Given the description of an element on the screen output the (x, y) to click on. 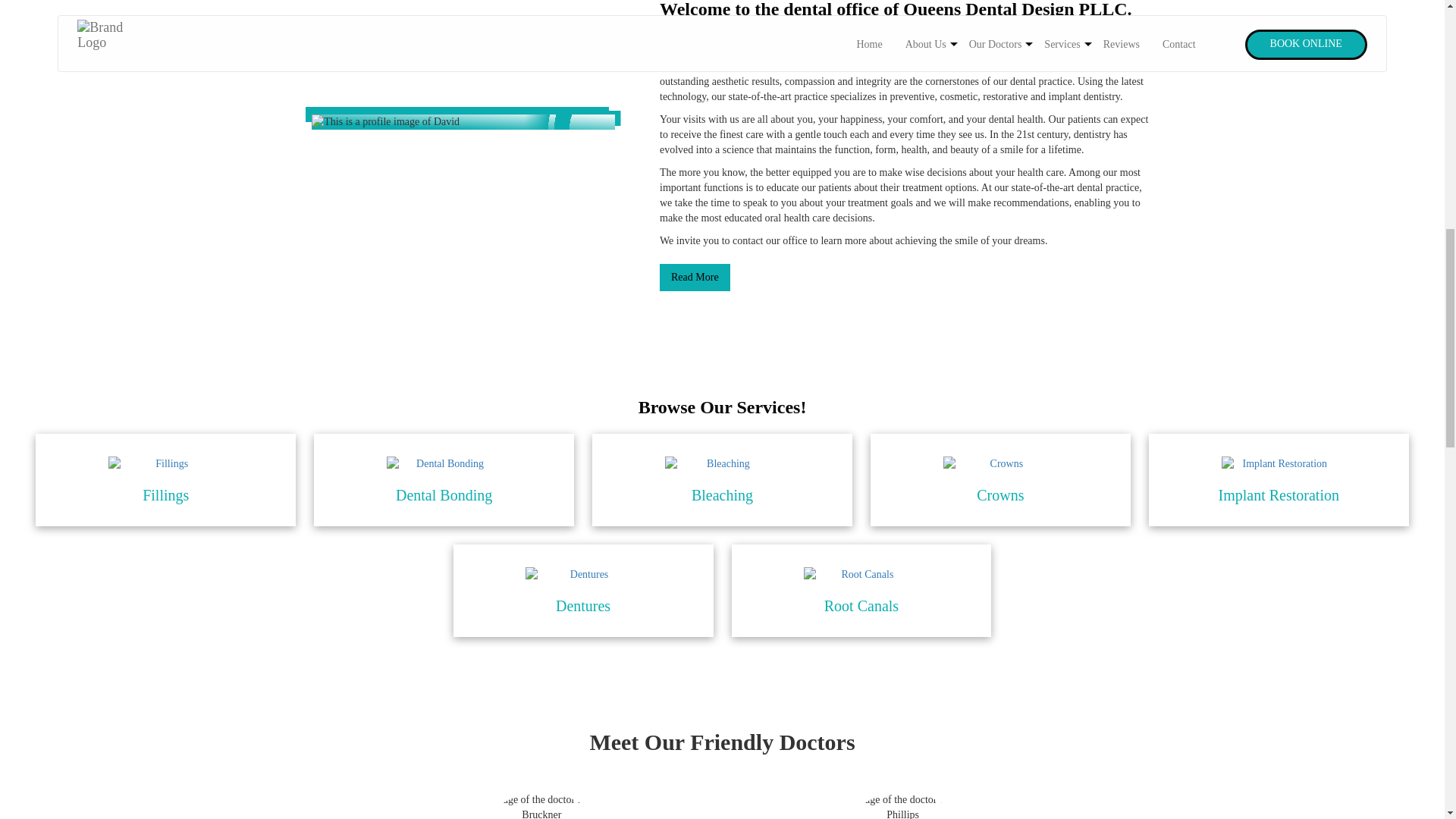
Dentures (582, 574)
Bleaching (722, 479)
Read More (694, 277)
Crowns (1000, 479)
image of the doctor Tracy Phillips (902, 805)
Dental Bonding (443, 463)
Fillings (165, 479)
This is a profile image of David (462, 121)
Crowns (1000, 463)
image of the doctor David Bruckner (541, 805)
